Given the description of an element on the screen output the (x, y) to click on. 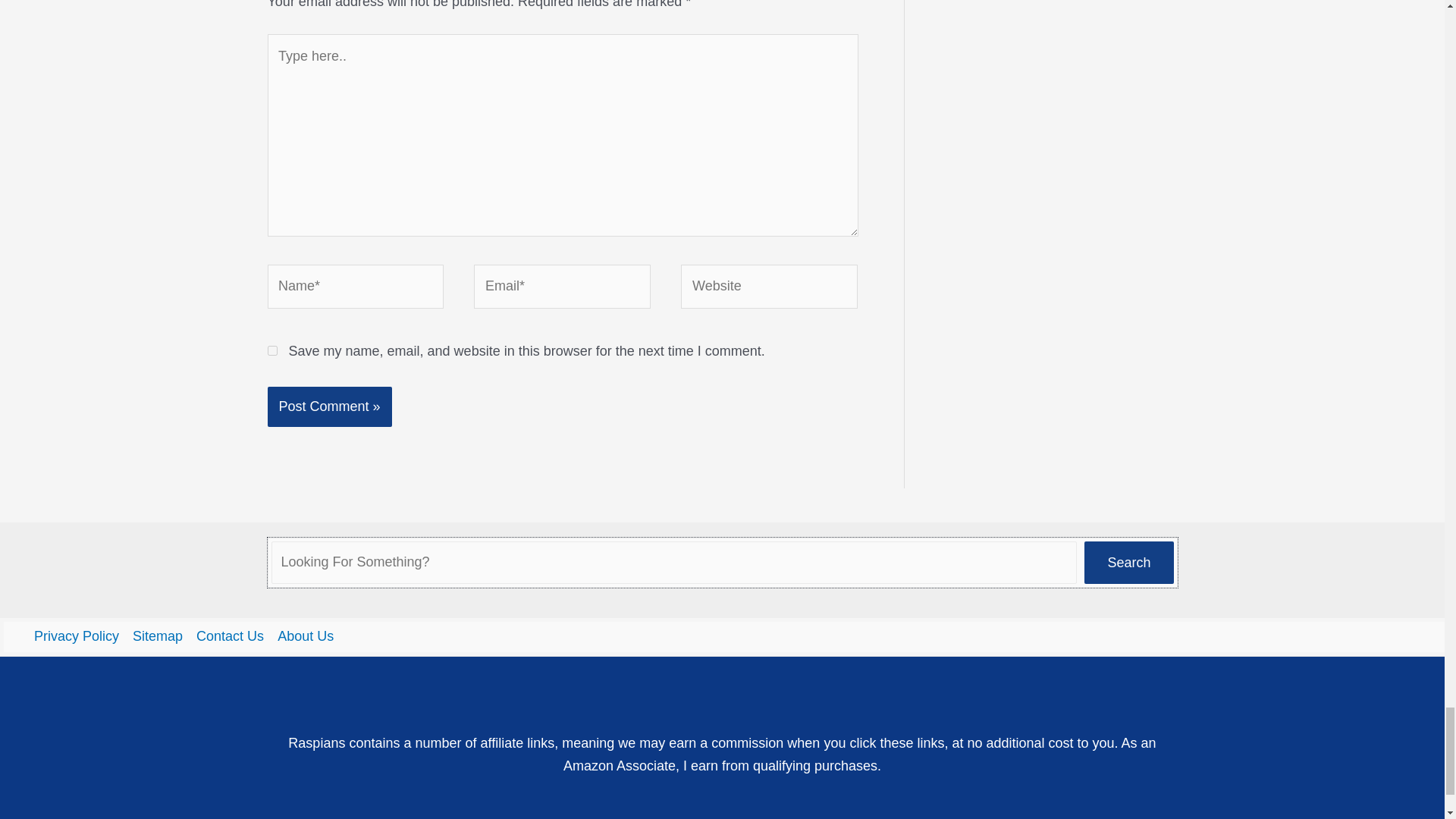
yes (271, 350)
